Given the description of an element on the screen output the (x, y) to click on. 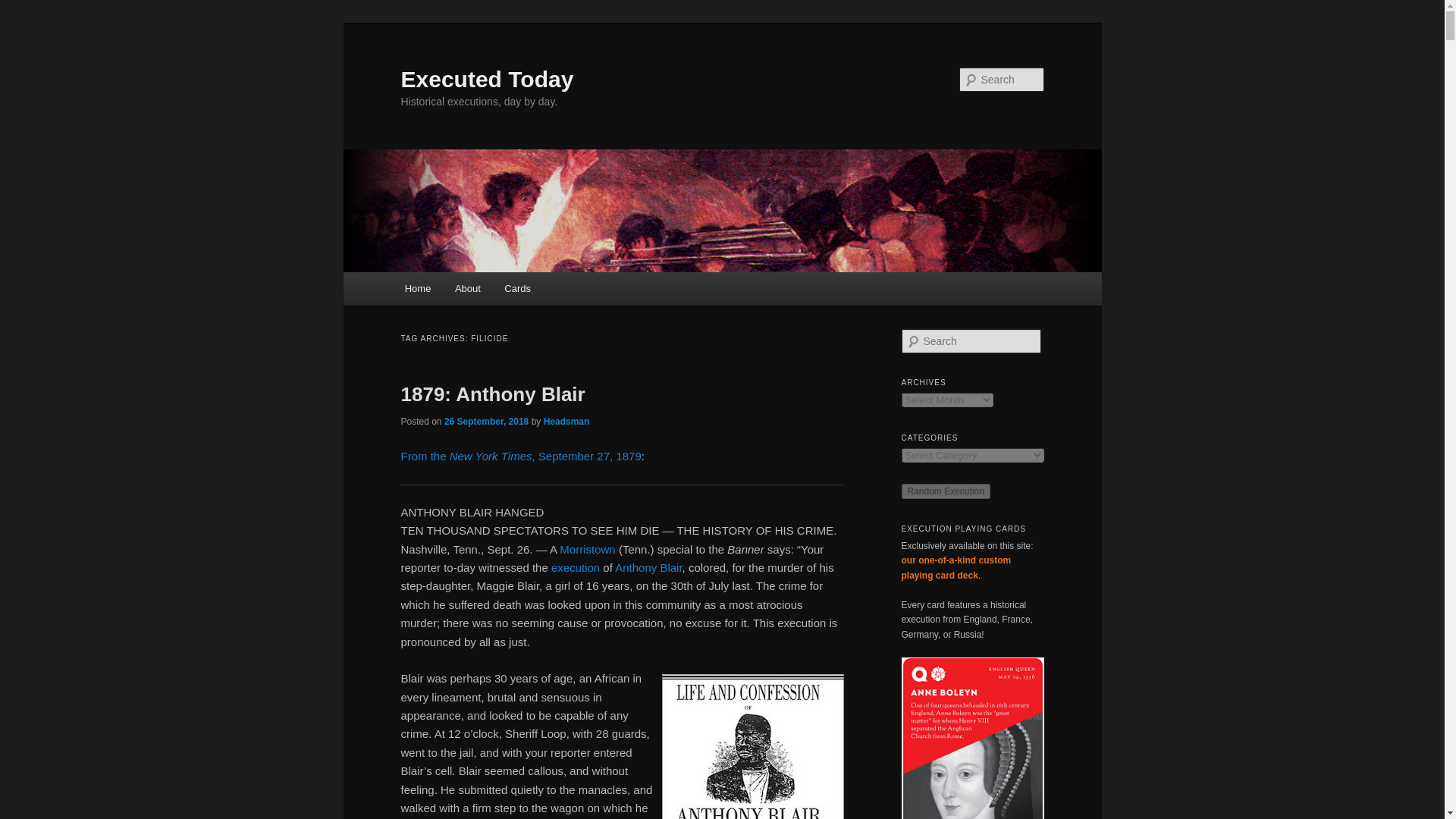
View all posts by Headsman (566, 421)
1879: Anthony Blair (492, 394)
About (467, 287)
10:06 pm (486, 421)
26 September, 2018 (486, 421)
Random Execution (945, 491)
Cards (518, 287)
Executed Today (486, 78)
execution (575, 567)
Home (417, 287)
Headsman (566, 421)
From the New York Times, September 27, 1879 (520, 455)
Morristown (586, 549)
Anthony Blair (647, 567)
Search (24, 8)
